Given the description of an element on the screen output the (x, y) to click on. 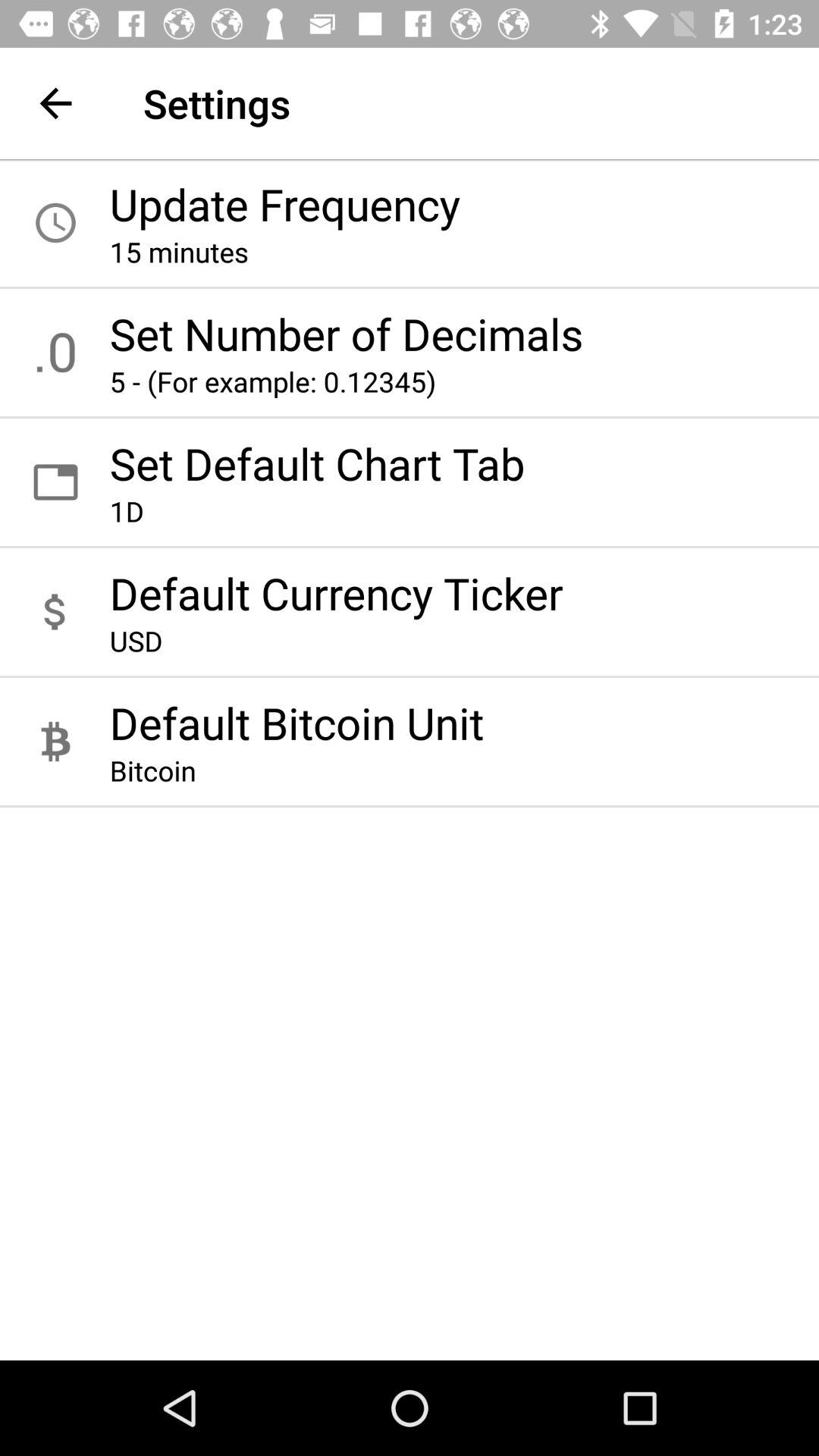
press icon next to the settings (55, 103)
